Given the description of an element on the screen output the (x, y) to click on. 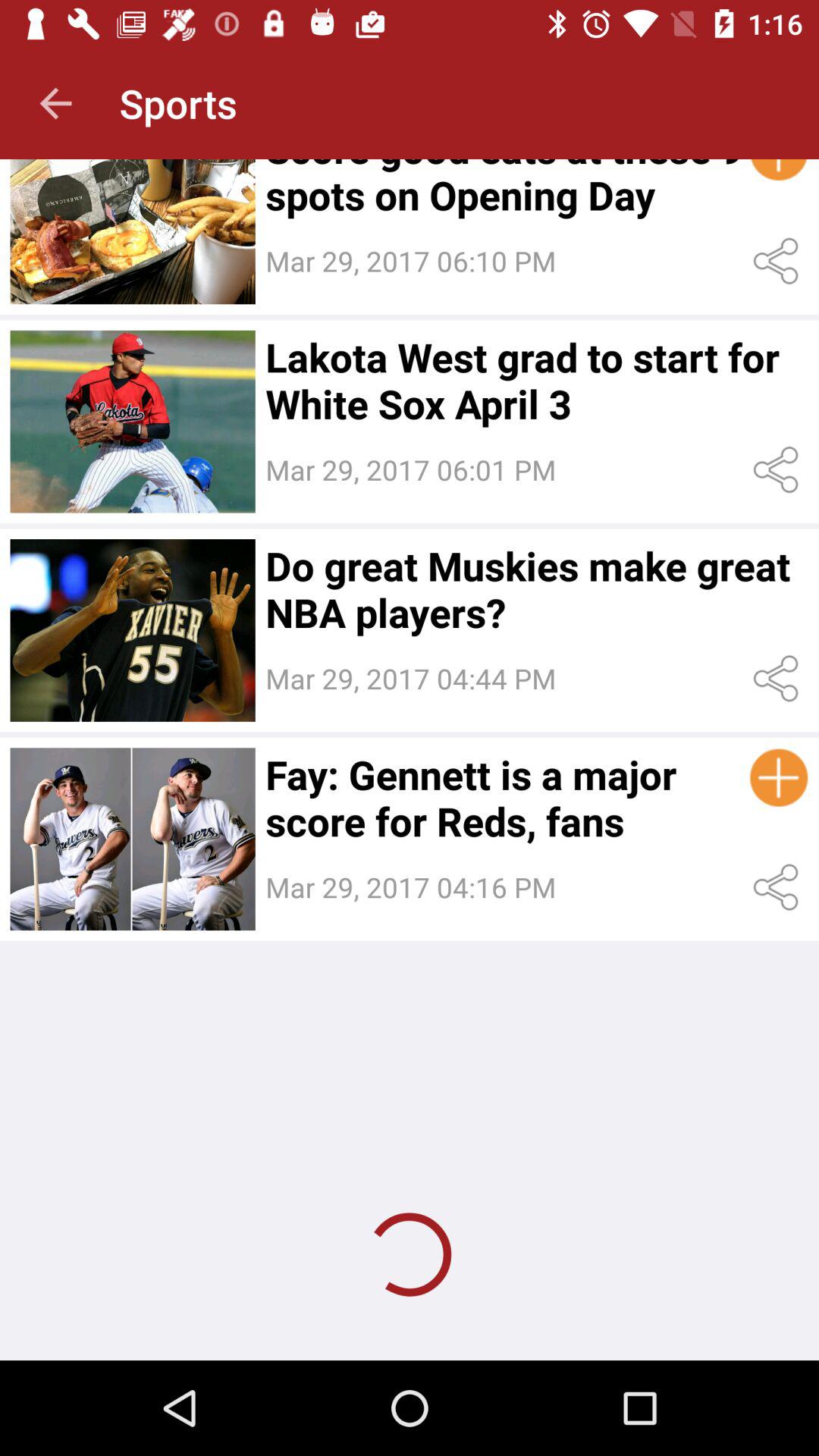
view selected article (132, 421)
